Given the description of an element on the screen output the (x, y) to click on. 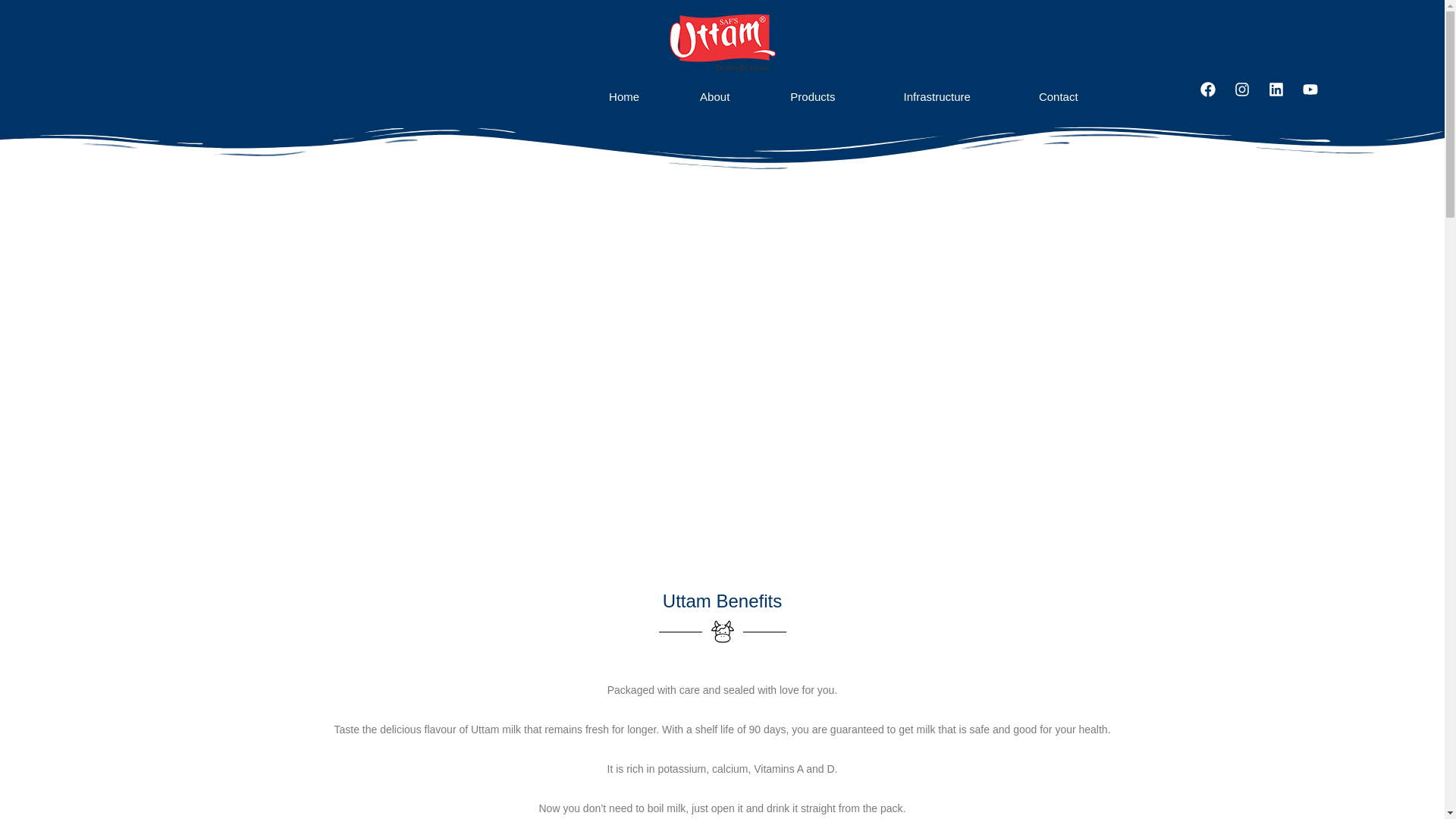
Youtube (1318, 96)
Products (816, 96)
Linkedin (1283, 96)
Facebook (1214, 96)
Instagram (1249, 96)
About (714, 96)
Infrastructure (941, 96)
Home (623, 96)
Contact (1058, 96)
